Given the description of an element on the screen output the (x, y) to click on. 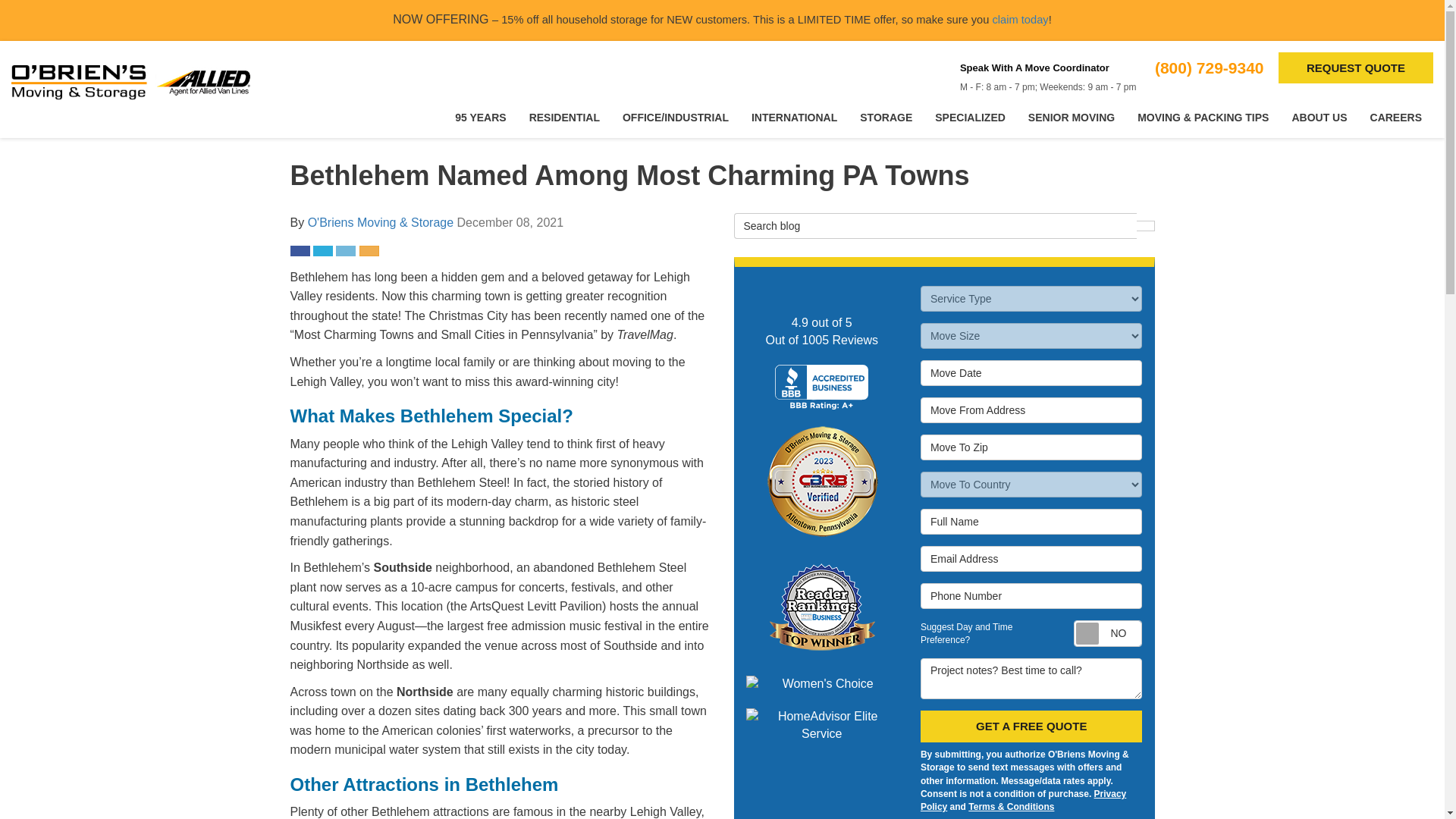
RESIDENTIAL (564, 118)
REQUEST QUOTE (1355, 67)
SENIOR MOVING (1070, 118)
STORAGE (885, 118)
95 YEARS (480, 118)
SPECIALIZED (969, 118)
REQUEST QUOTE (1355, 67)
INTERNATIONAL (793, 118)
claim today (1019, 19)
